Given the description of an element on the screen output the (x, y) to click on. 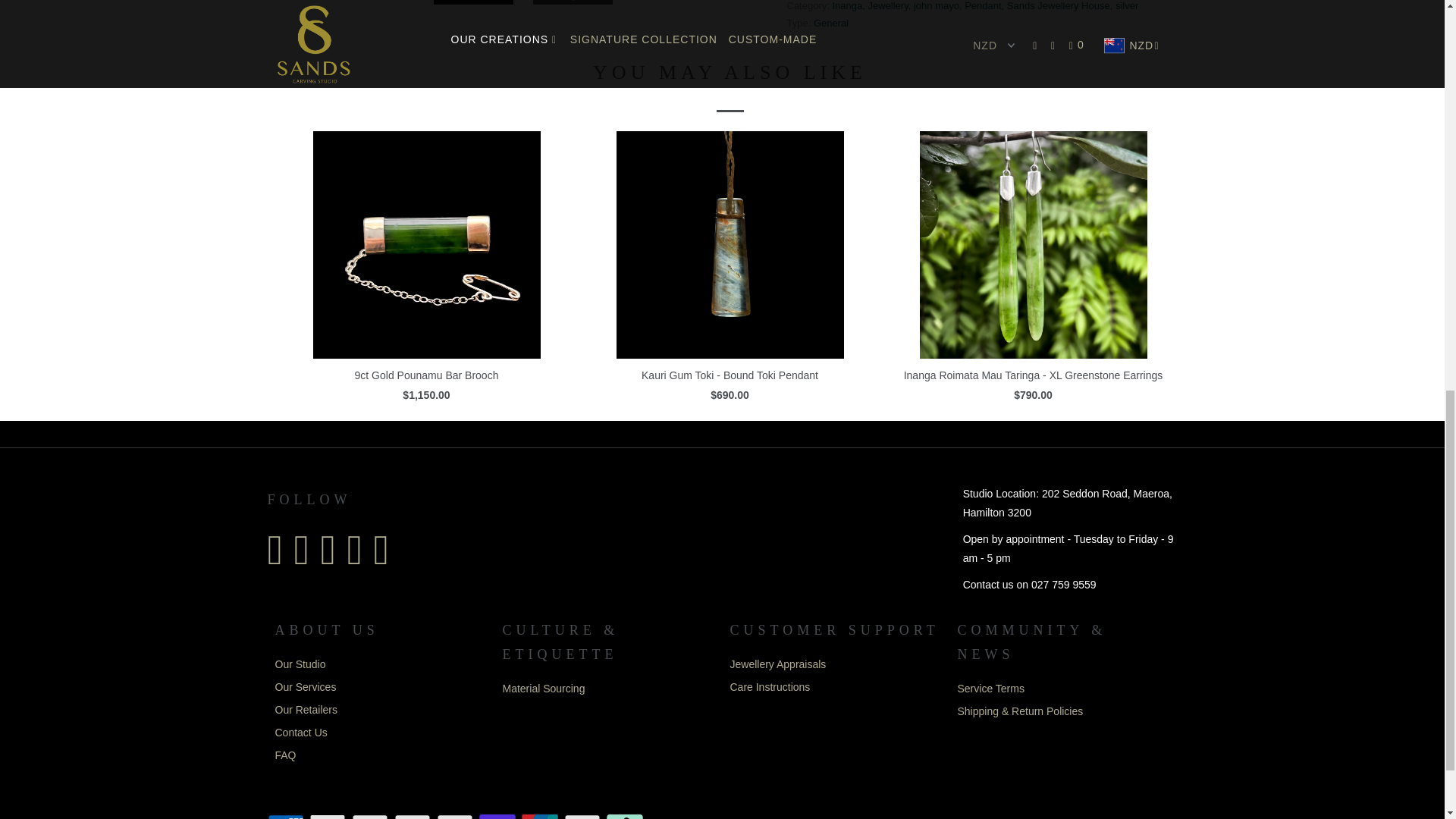
Shop Pay (498, 816)
Visa (584, 816)
PayPal (456, 816)
American Express (285, 816)
Apple Pay (328, 816)
Union Pay (540, 816)
Mastercard (413, 816)
Google Pay (371, 816)
